Given the description of an element on the screen output the (x, y) to click on. 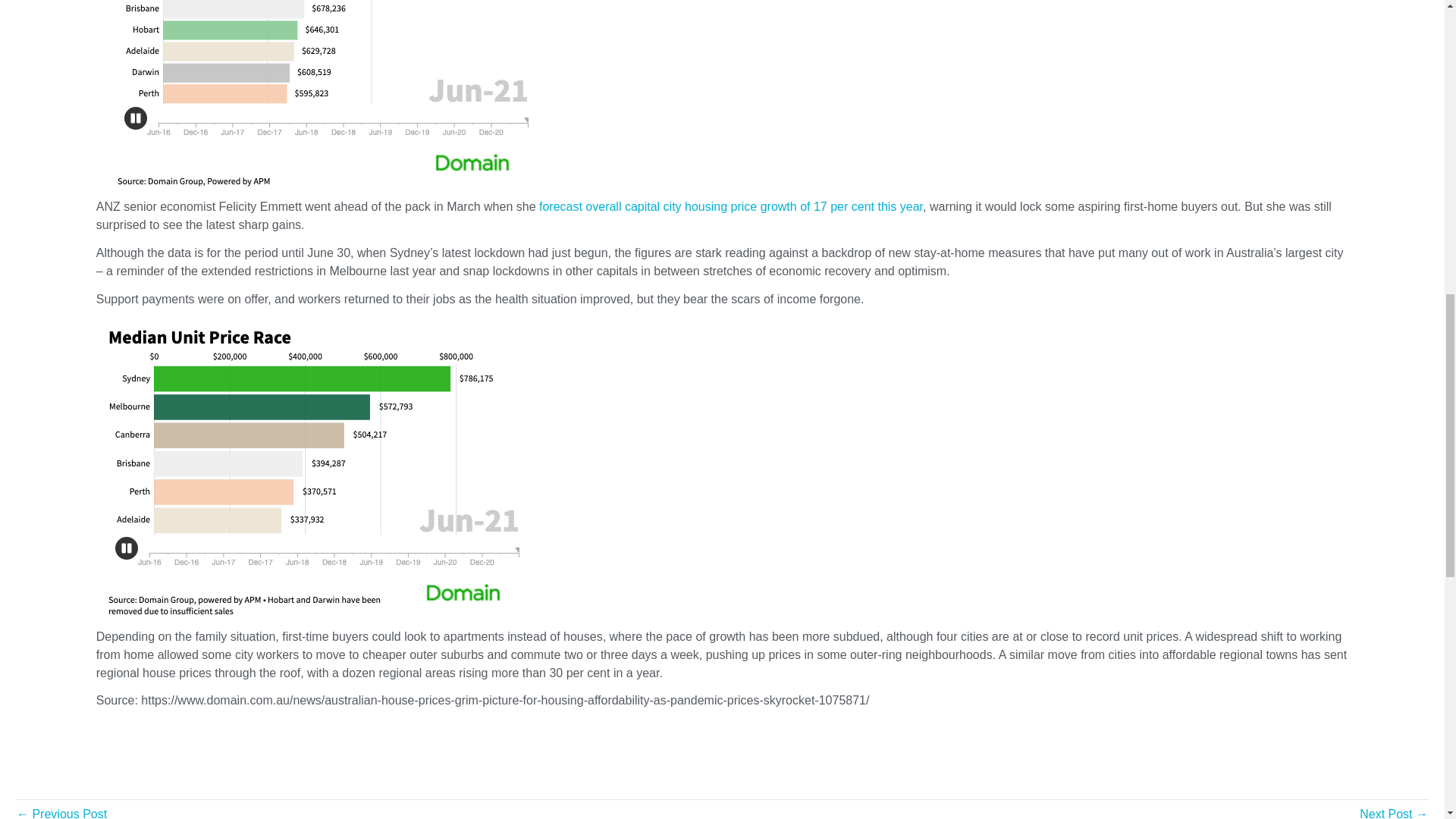
What is negative gearing? (1393, 810)
6 Easy Steps to Increase Your Property's Value (61, 810)
